Given the description of an element on the screen output the (x, y) to click on. 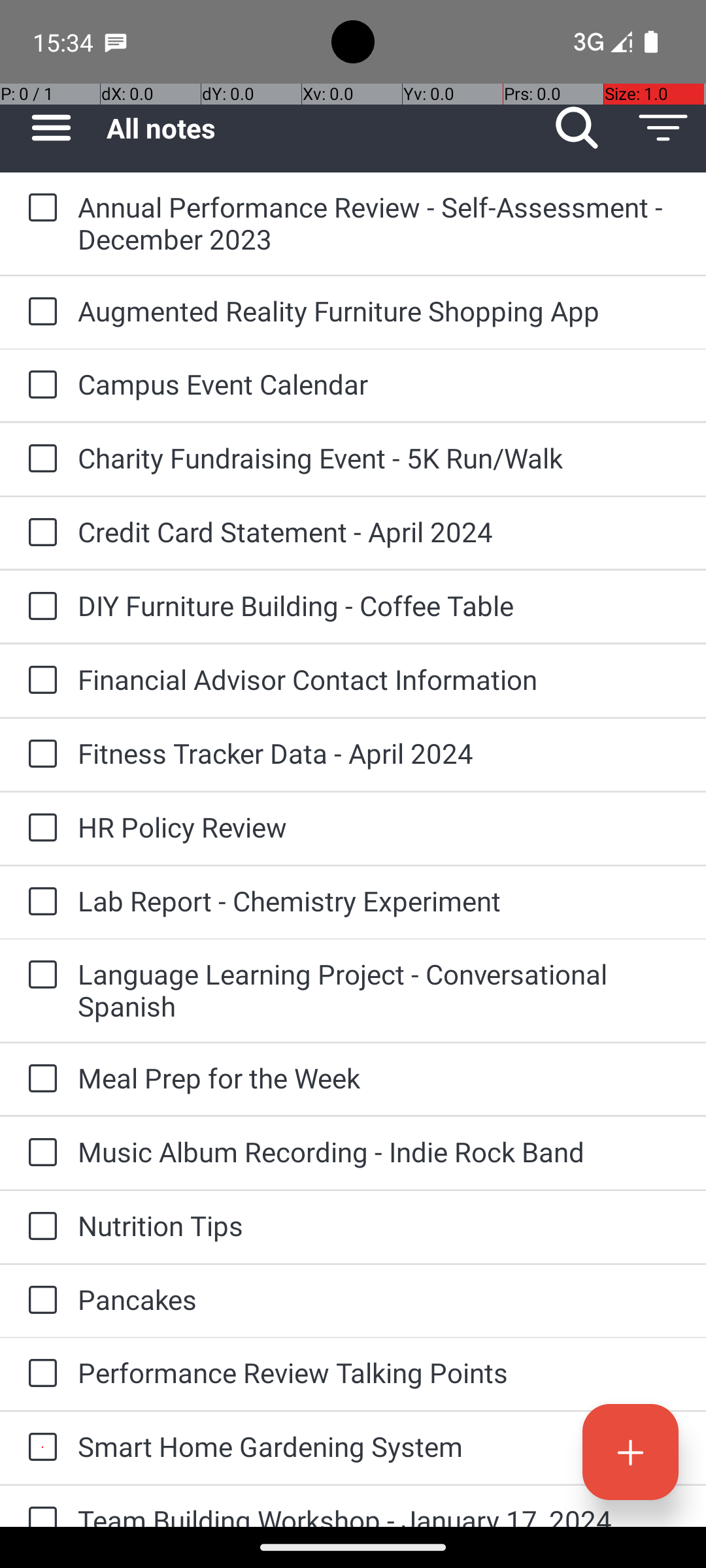
to-do: Annual Performance Review - Self-Assessment - December 2023 Element type: android.widget.CheckBox (38, 208)
Annual Performance Review - Self-Assessment - December 2023 Element type: android.widget.TextView (378, 222)
to-do: Augmented Reality Furniture Shopping App Element type: android.widget.CheckBox (38, 312)
Augmented Reality Furniture Shopping App Element type: android.widget.TextView (378, 310)
to-do: Campus Event Calendar Element type: android.widget.CheckBox (38, 385)
Campus Event Calendar Element type: android.widget.TextView (378, 383)
to-do: Charity Fundraising Event - 5K Run/Walk Element type: android.widget.CheckBox (38, 459)
Charity Fundraising Event - 5K Run/Walk Element type: android.widget.TextView (378, 457)
to-do: Credit Card Statement - April 2024 Element type: android.widget.CheckBox (38, 533)
Credit Card Statement - April 2024 Element type: android.widget.TextView (378, 531)
to-do: DIY Furniture Building - Coffee Table Element type: android.widget.CheckBox (38, 606)
DIY Furniture Building - Coffee Table Element type: android.widget.TextView (378, 604)
to-do: Financial Advisor Contact Information Element type: android.widget.CheckBox (38, 680)
Financial Advisor Contact Information Element type: android.widget.TextView (378, 678)
to-do: Fitness Tracker Data - April 2024 Element type: android.widget.CheckBox (38, 754)
Fitness Tracker Data - April 2024 Element type: android.widget.TextView (378, 752)
to-do: HR Policy Review Element type: android.widget.CheckBox (38, 828)
HR Policy Review Element type: android.widget.TextView (378, 826)
to-do: Lab Report - Chemistry Experiment Element type: android.widget.CheckBox (38, 902)
Lab Report - Chemistry Experiment Element type: android.widget.TextView (378, 900)
to-do: Language Learning Project - Conversational Spanish Element type: android.widget.CheckBox (38, 975)
Language Learning Project - Conversational Spanish Element type: android.widget.TextView (378, 989)
to-do: Meal Prep for the Week Element type: android.widget.CheckBox (38, 1079)
Meal Prep for the Week Element type: android.widget.TextView (378, 1077)
to-do: Music Album Recording - Indie Rock Band Element type: android.widget.CheckBox (38, 1153)
Music Album Recording - Indie Rock Band Element type: android.widget.TextView (378, 1151)
to-do: Nutrition Tips Element type: android.widget.CheckBox (38, 1226)
Nutrition Tips Element type: android.widget.TextView (378, 1224)
to-do: Pancakes Element type: android.widget.CheckBox (38, 1300)
Pancakes Element type: android.widget.TextView (378, 1298)
to-do: Performance Review Talking Points Element type: android.widget.CheckBox (38, 1373)
Performance Review Talking Points Element type: android.widget.TextView (378, 1371)
to-do: Smart Home Gardening System Element type: android.widget.CheckBox (38, 1447)
Smart Home Gardening System Element type: android.widget.TextView (378, 1445)
to-do: Team Building Workshop - January 17, 2024 Element type: android.widget.CheckBox (38, 1505)
Team Building Workshop - January 17, 2024 Element type: android.widget.TextView (378, 1513)
